Given the description of an element on the screen output the (x, y) to click on. 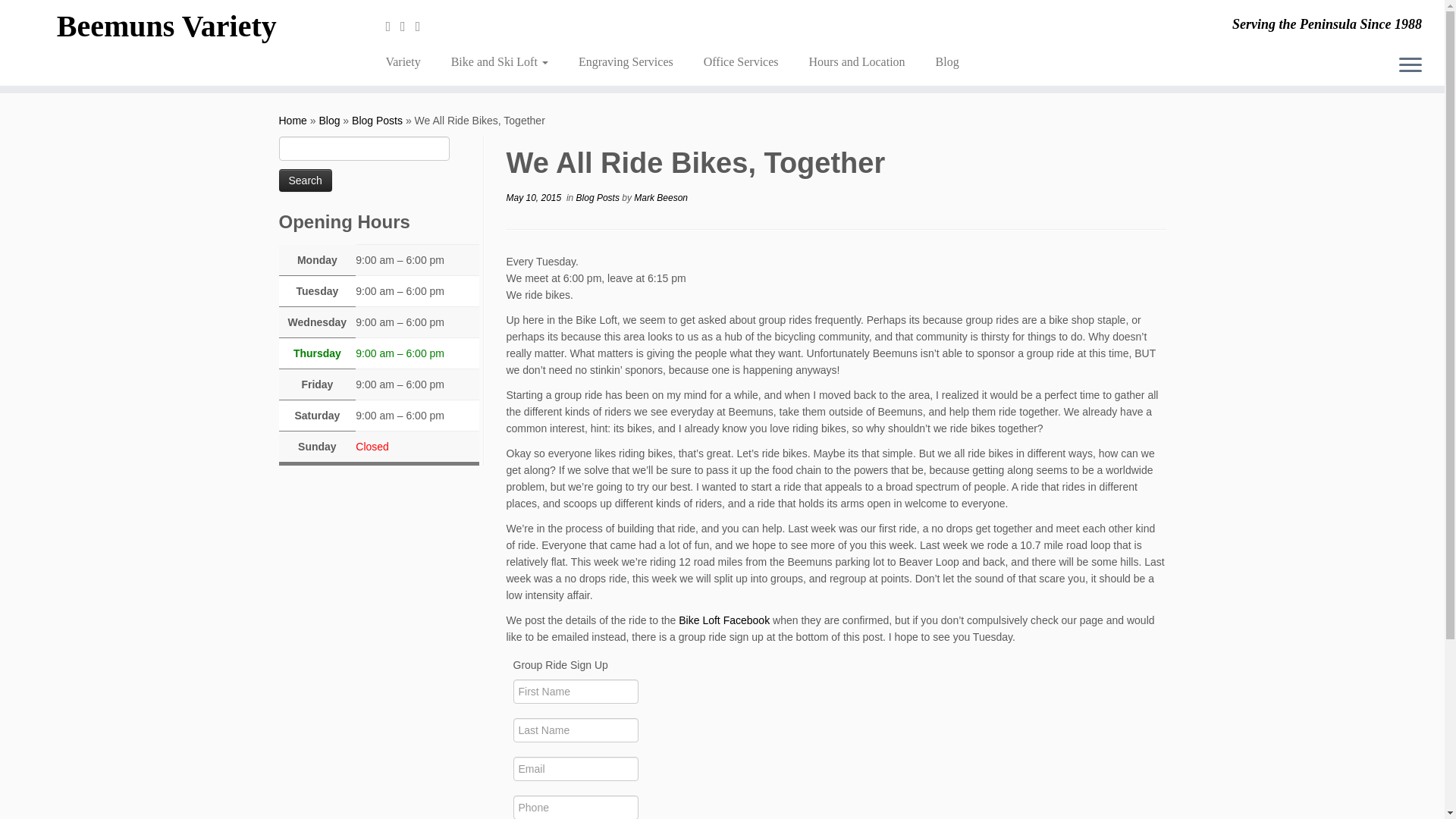
View all posts by Mark Beeson (660, 197)
Hours and Location (856, 61)
Blog Posts (377, 120)
Search (305, 179)
Blog (328, 120)
E-mail (392, 26)
Home (293, 120)
Bike Loft Facebook (724, 620)
1:45 am (534, 197)
Mark Beeson (660, 197)
Beemuns Variety (293, 120)
Blog (939, 61)
May 10, 2015 (534, 197)
Blog (328, 120)
Open the menu (1410, 65)
